Given the description of an element on the screen output the (x, y) to click on. 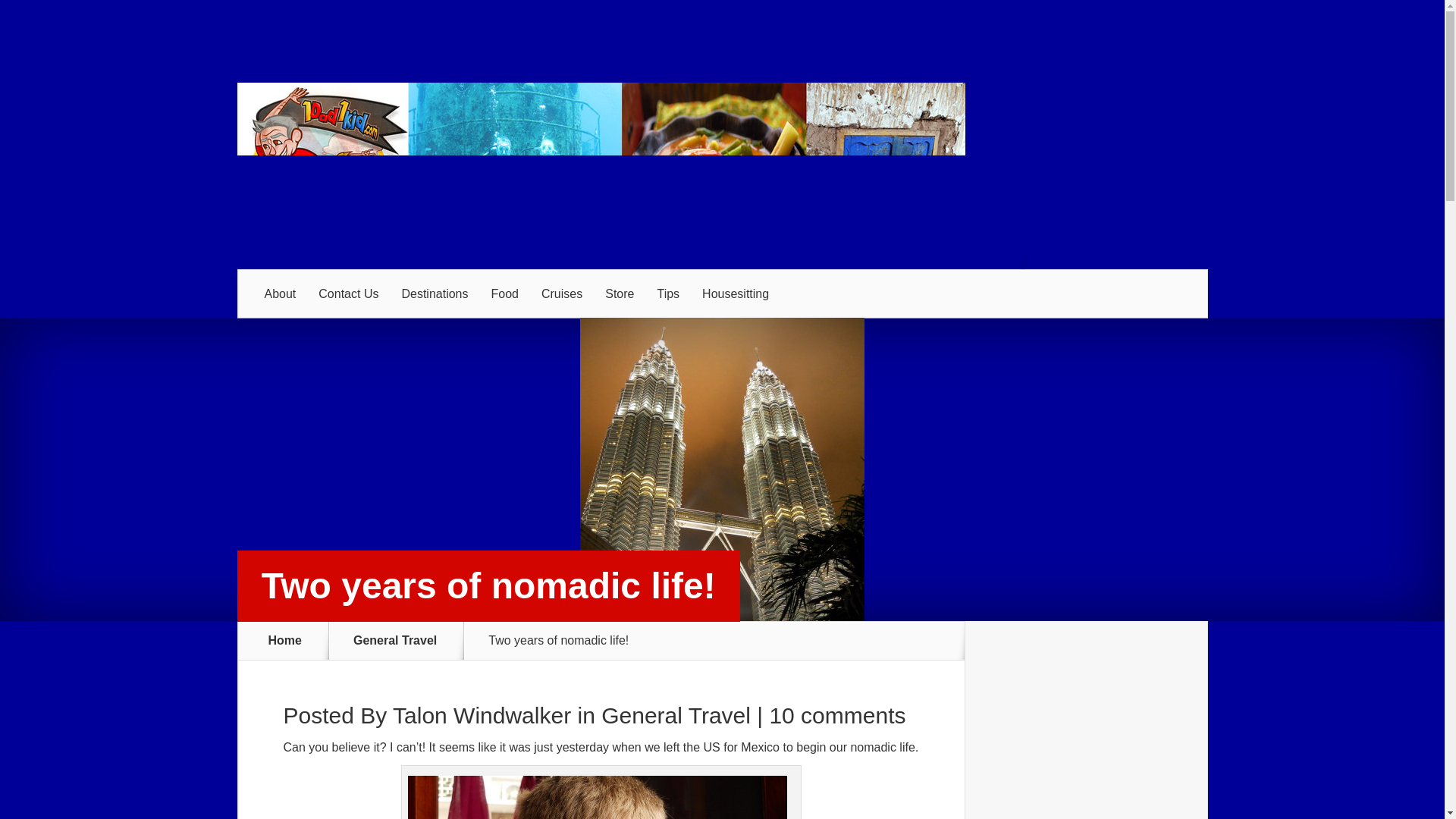
Tigger at the beginning of our 2nd year (597, 797)
About (280, 294)
Contact Us (348, 294)
Destinations (434, 294)
Posts by Talon Windwalker (481, 715)
